Given the description of an element on the screen output the (x, y) to click on. 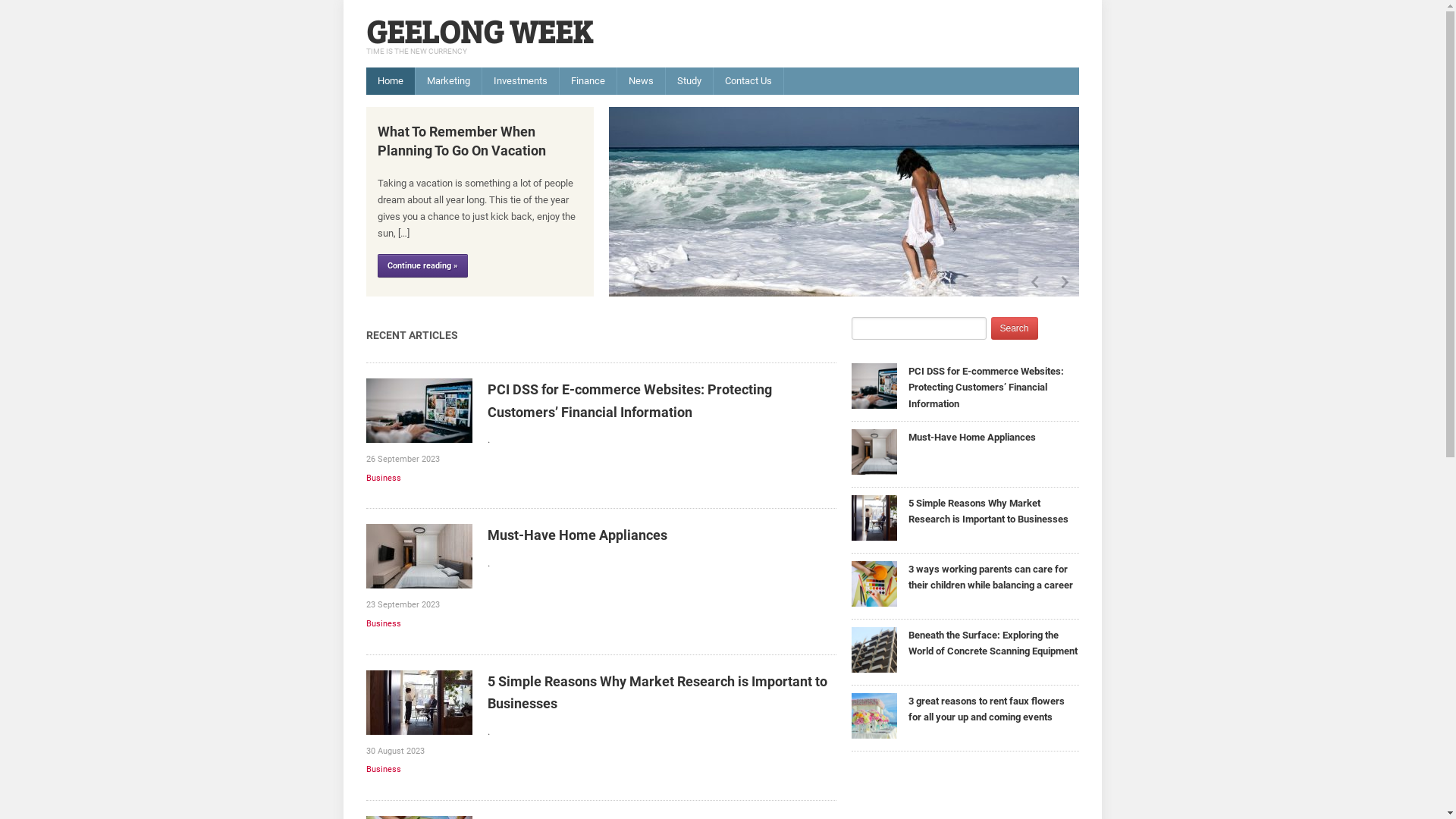
Contact Us Element type: text (747, 80)
Home Element type: text (389, 80)
Study Element type: text (688, 80)
News Element type: text (641, 80)
Search Element type: text (1013, 327)
Investments Element type: text (520, 80)
Must-Have Home Appliances Element type: text (576, 534)
Next Element type: text (1063, 281)
Business Element type: text (382, 769)
Previous Element type: text (1032, 281)
Marketing Element type: text (448, 80)
What To Remember When Planning To Go On Vacation Element type: text (461, 140)
Must-Have Home Appliances Element type: text (971, 436)
Finance Element type: text (587, 80)
Must-Have Home Appliances Element type: hover (418, 555)
Business Element type: text (382, 623)
What To Remember When Planning To Go On Vacation Element type: hover (843, 200)
Must-Have Home Appliances Element type: hover (873, 450)
Business Element type: text (382, 478)
GEELONG WEEK Element type: text (478, 30)
